Given the description of an element on the screen output the (x, y) to click on. 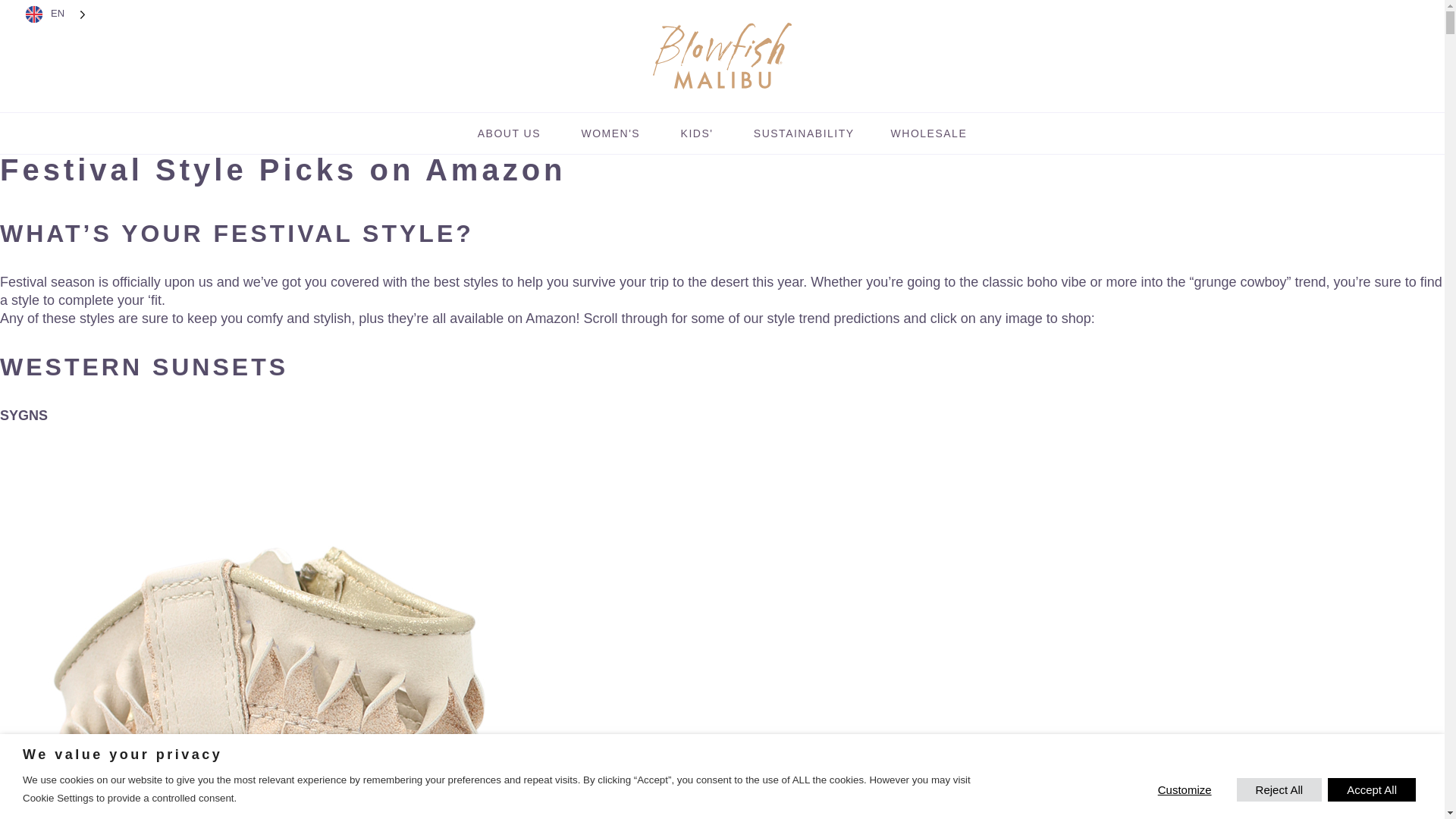
WHOLESALE (929, 133)
SUSTAINABILITY (803, 133)
KIDS' (696, 133)
WOMEN'S (610, 133)
ABOUT US (509, 133)
